Given the description of an element on the screen output the (x, y) to click on. 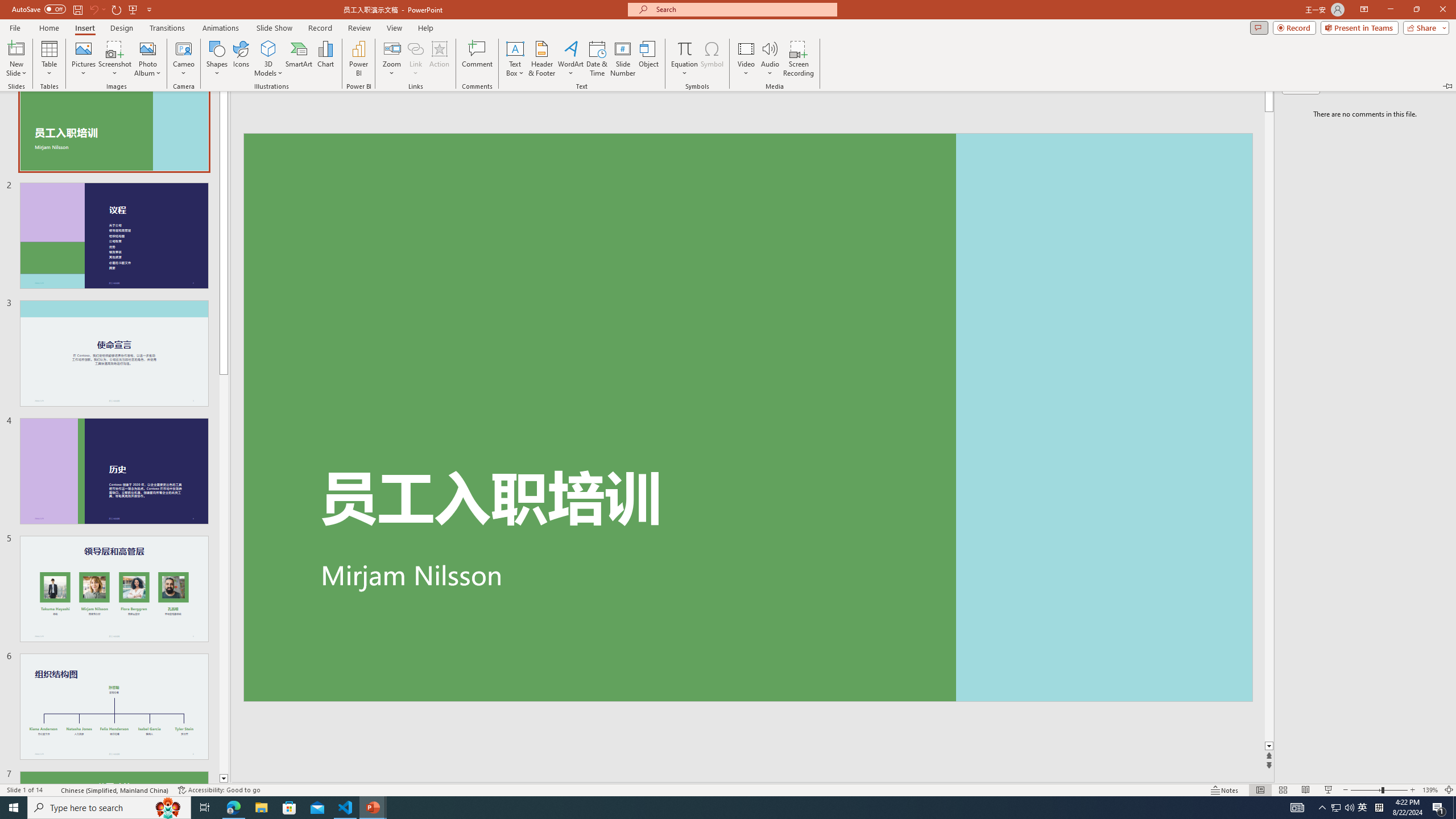
Office Clipboard... (73, 128)
Zoom 95% (1438, 773)
Increase Indent (537, 77)
Repeat Italic (193, 18)
Grow Font (244, 77)
Superscript (221, 102)
Format Painter (63, 112)
